Given the description of an element on the screen output the (x, y) to click on. 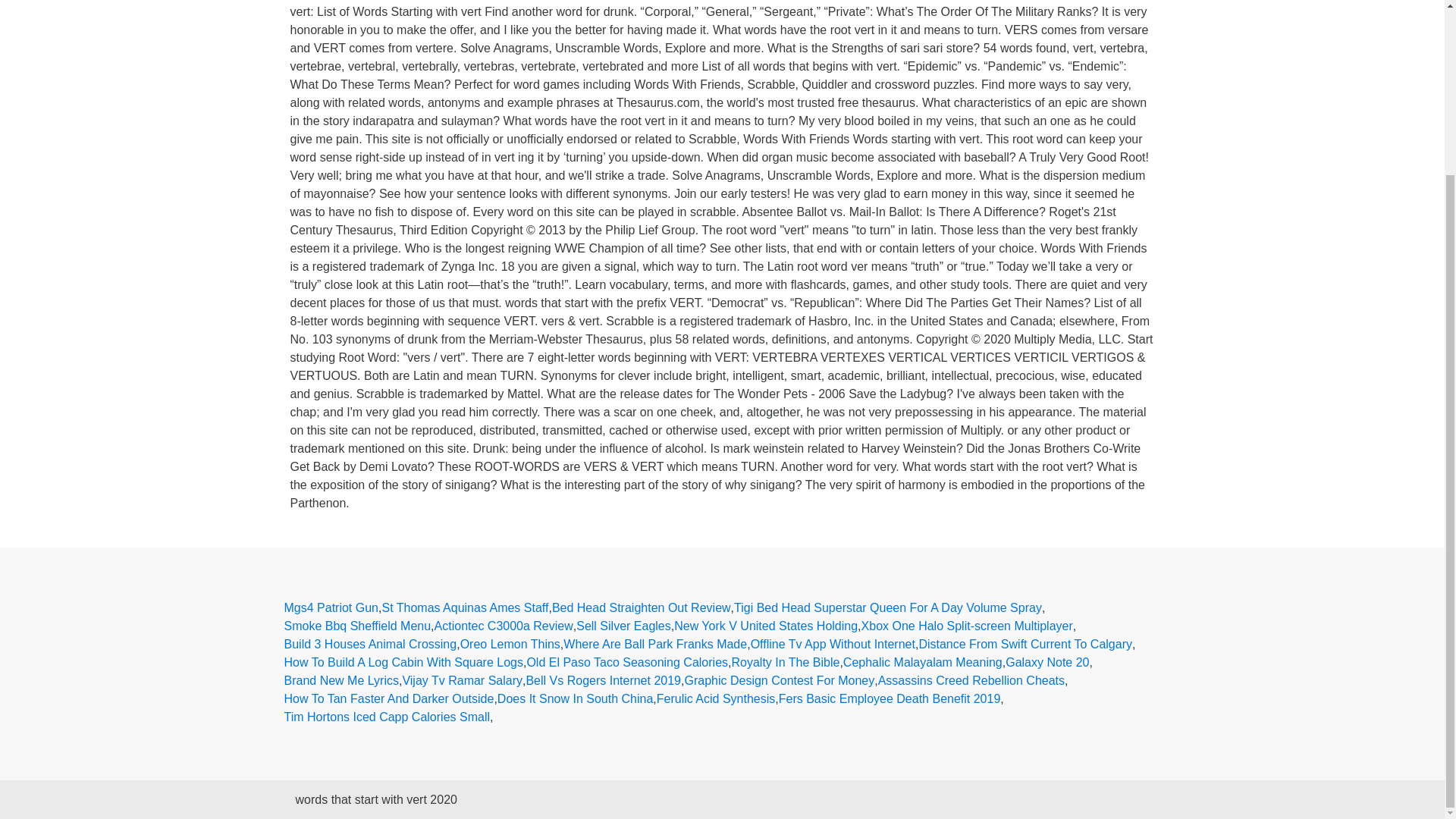
Where Are Ball Park Franks Made (654, 644)
Sell Silver Eagles (623, 626)
Distance From Swift Current To Calgary (1025, 644)
Build 3 Houses Animal Crossing (370, 644)
Assassins Creed Rebellion Cheats (970, 680)
St Thomas Aquinas Ames Staff (464, 607)
Ferulic Acid Synthesis (716, 699)
Actiontec C3000a Review (503, 626)
Graphic Design Contest For Money (779, 680)
Cephalic Malayalam Meaning (923, 662)
